Given the description of an element on the screen output the (x, y) to click on. 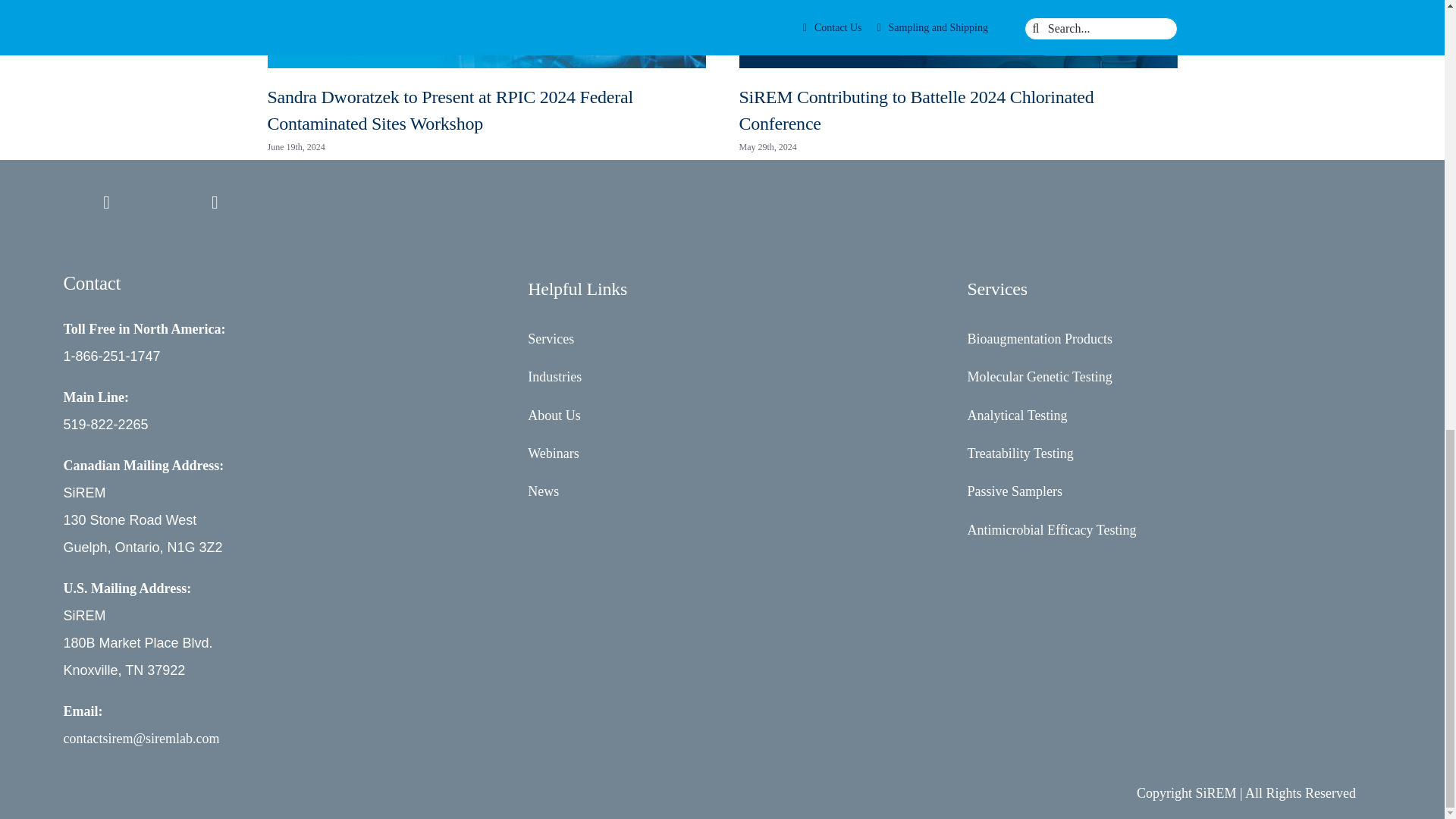
SiREM Contributing to Battelle 2024 Chlorinated Conference (915, 109)
